Given the description of an element on the screen output the (x, y) to click on. 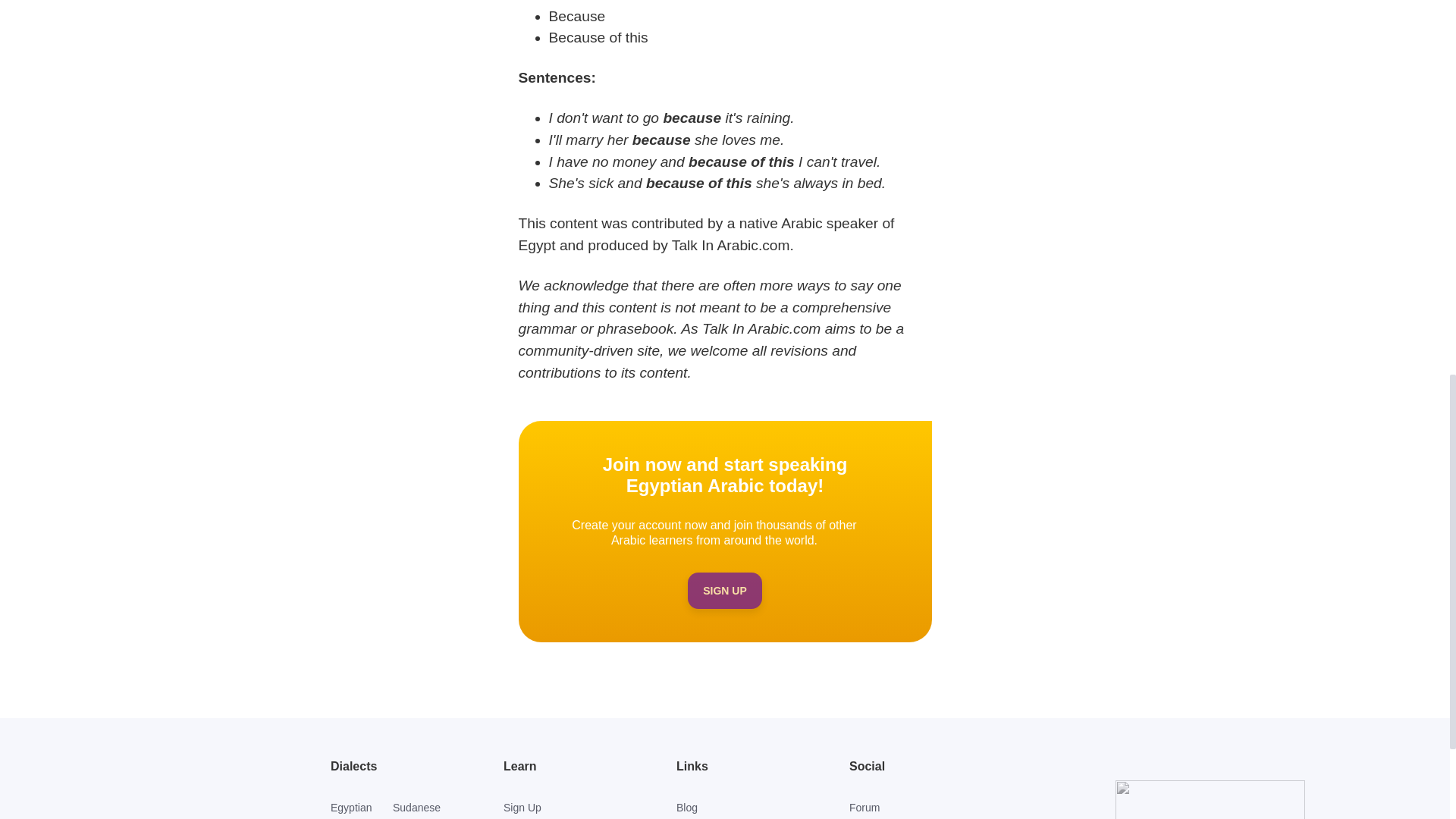
Forum (911, 807)
Egyptian (361, 807)
Sudanese (423, 807)
Blog (738, 807)
Sign Up (565, 807)
SIGN UP (724, 590)
